Given the description of an element on the screen output the (x, y) to click on. 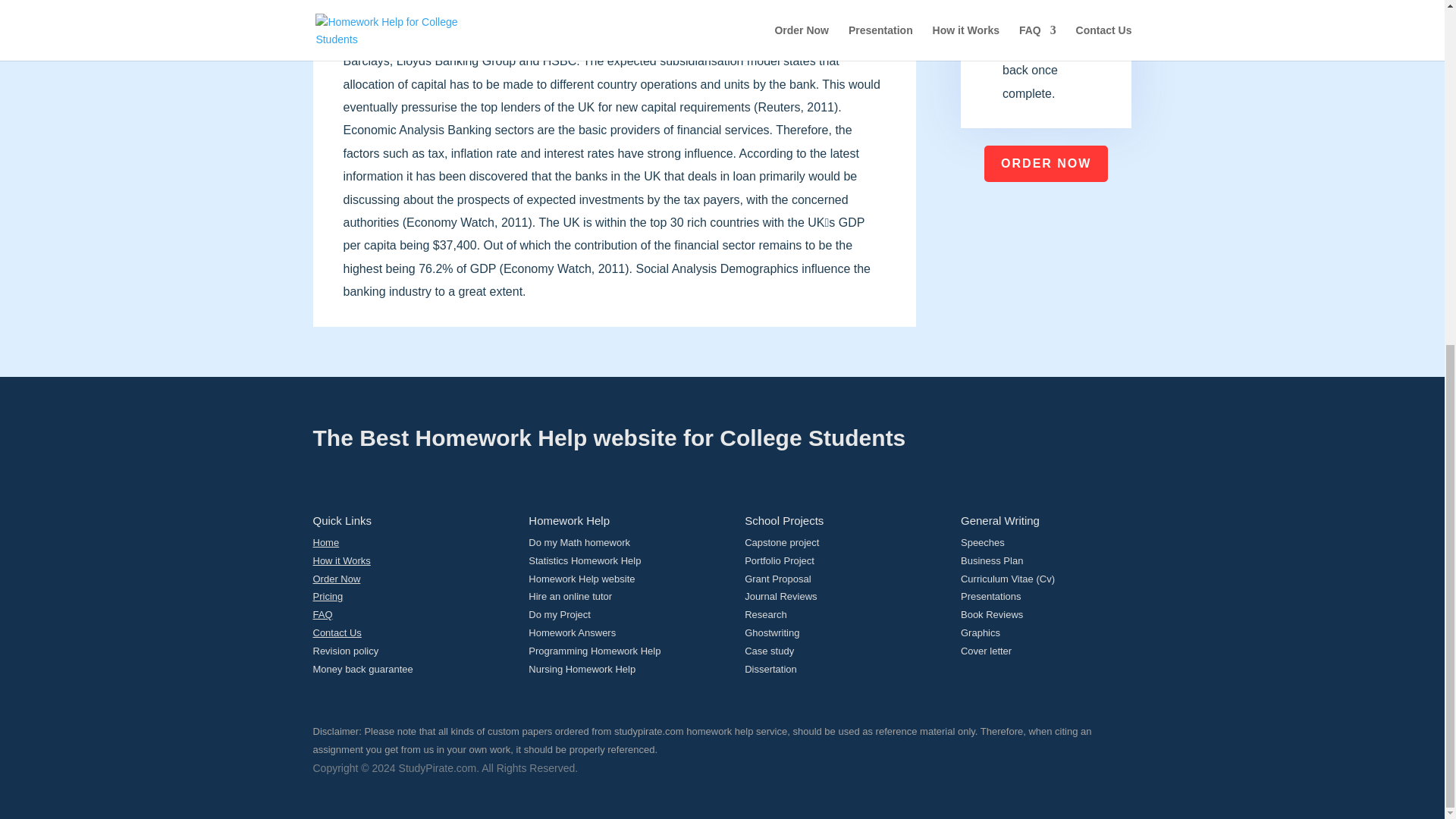
FAQ (322, 614)
How it Works (341, 560)
ORDER NOW (1046, 163)
Contact Us (337, 632)
Home (326, 542)
Order Now (336, 578)
Pricing (327, 595)
